Given the description of an element on the screen output the (x, y) to click on. 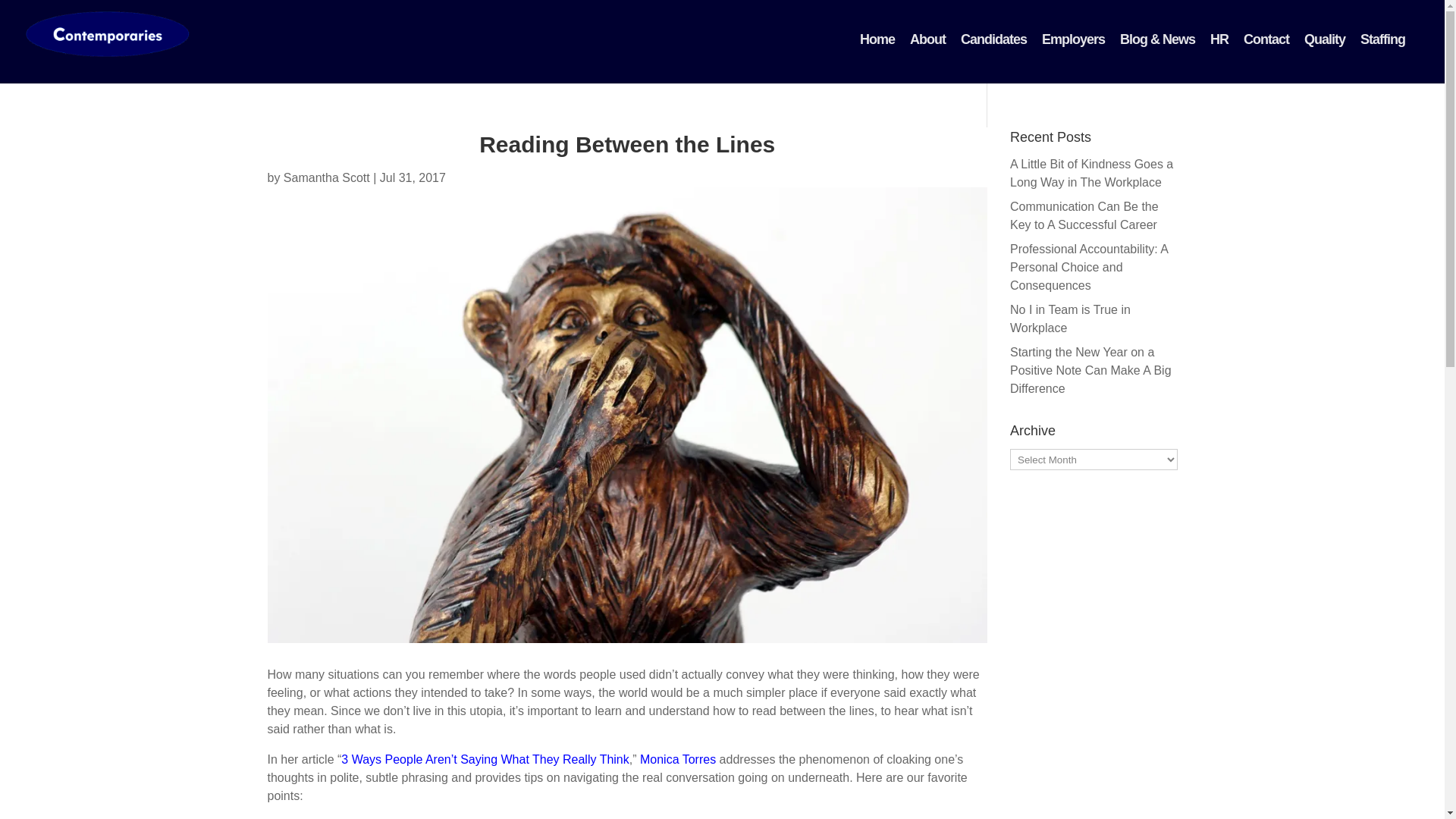
Staffing (1382, 39)
Posts by Samantha Scott (326, 177)
Quality (1324, 39)
Home (876, 39)
Employers (1072, 39)
About (927, 39)
HR (1219, 39)
Candidates (993, 39)
Contact (1266, 39)
